Given the description of an element on the screen output the (x, y) to click on. 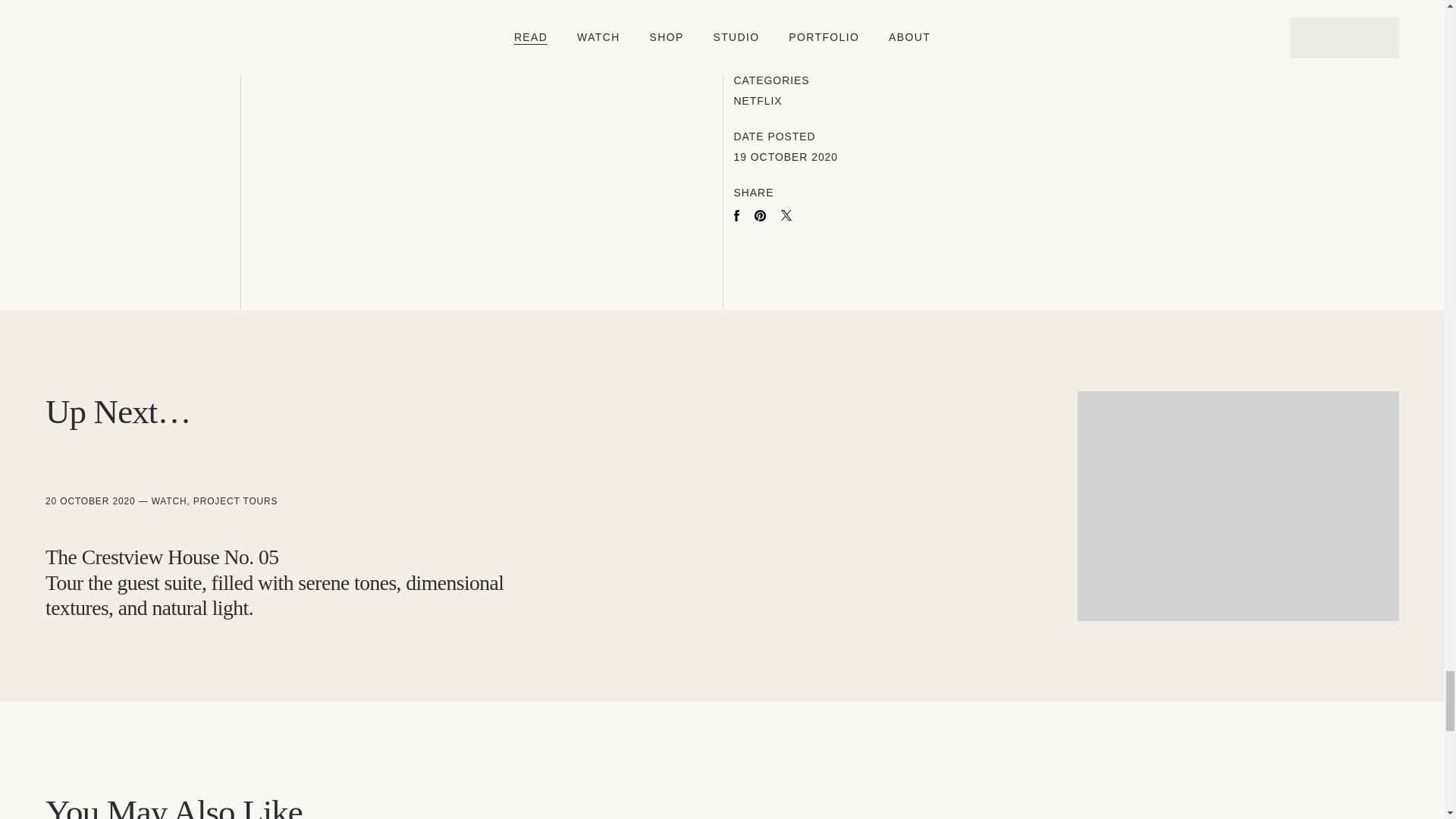
The Crestview House No. 05 (161, 556)
The Crestview House No. 05 (1238, 505)
Netflix (758, 100)
The Crestview House No. 05 (274, 594)
